Given the description of an element on the screen output the (x, y) to click on. 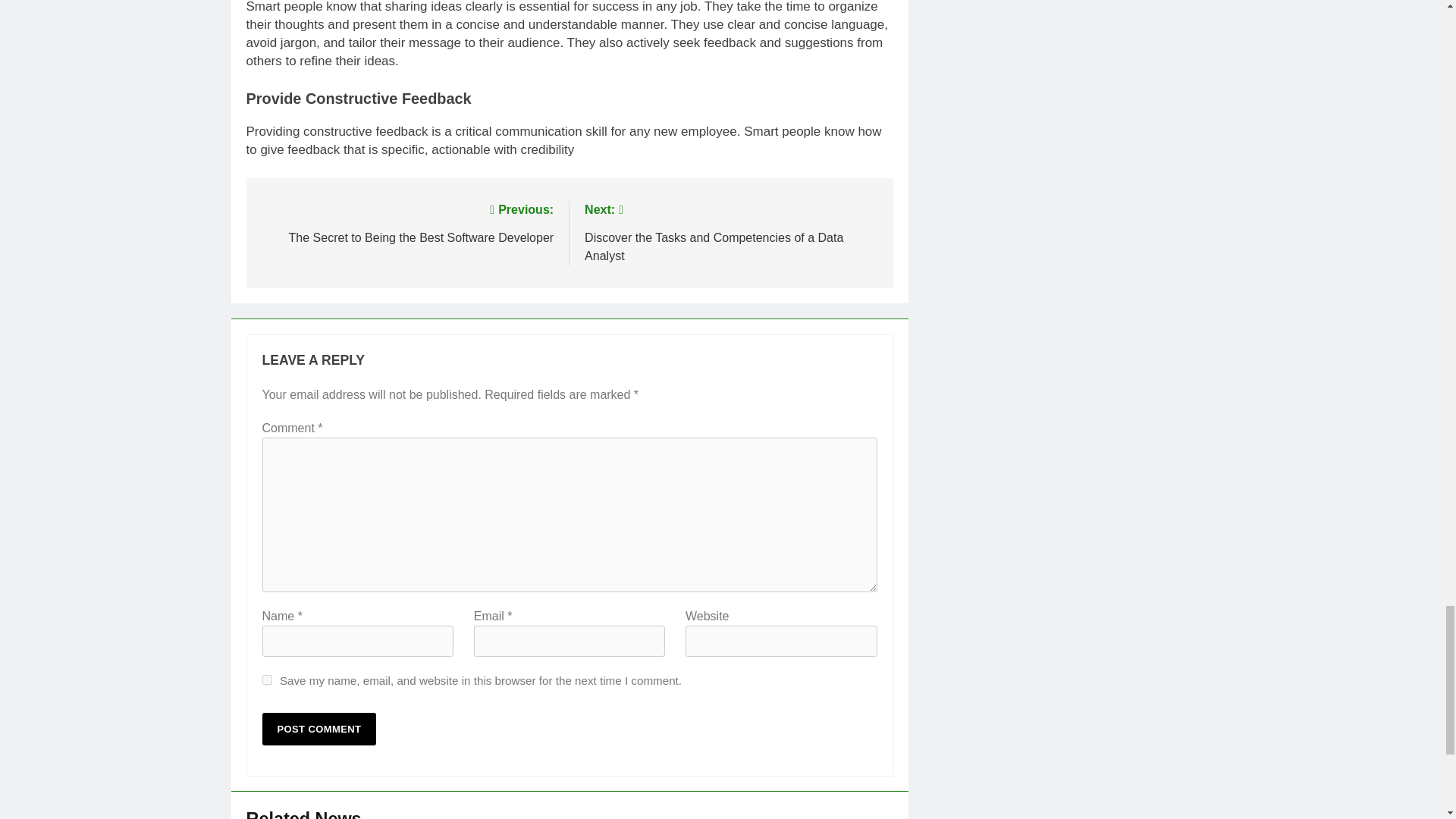
Post Comment (319, 728)
yes (267, 679)
